Given the description of an element on the screen output the (x, y) to click on. 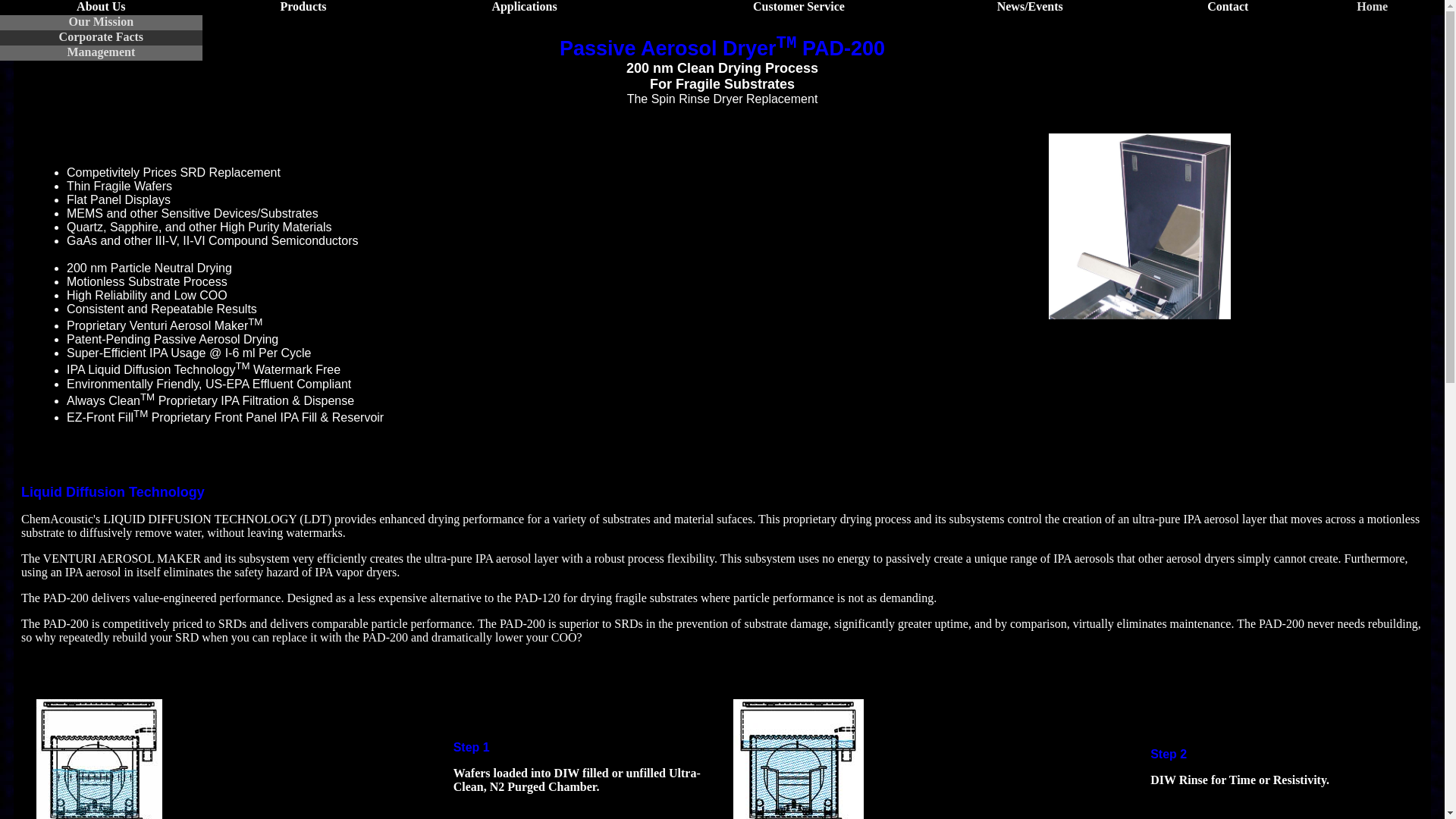
Management (100, 51)
Corporate Facts (101, 36)
Home (1371, 6)
Our Mission (100, 21)
